Given the description of an element on the screen output the (x, y) to click on. 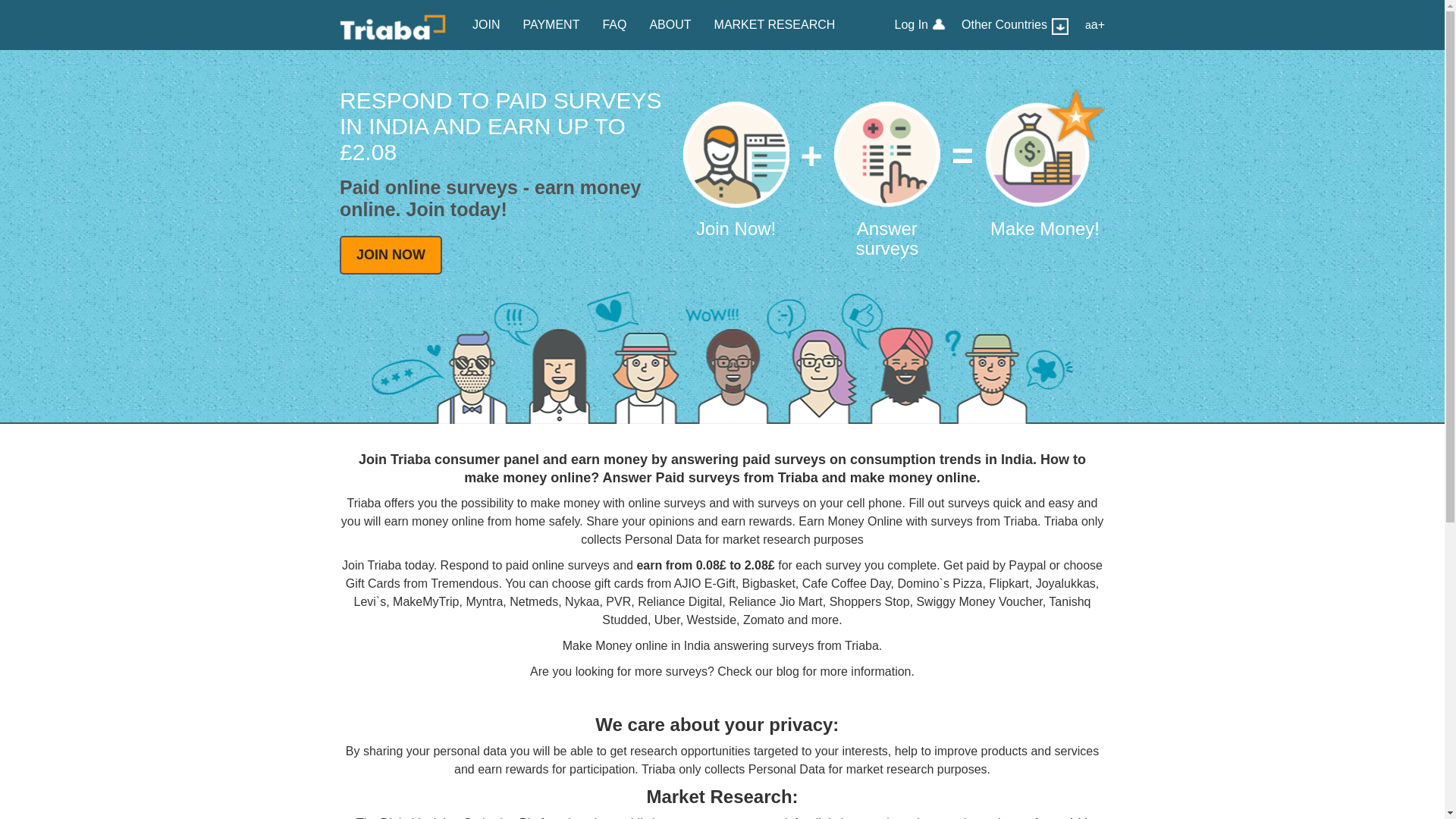
FAQ (614, 24)
MARKET RESEARCH (775, 24)
ABOUT (669, 24)
JOIN (486, 24)
PAYMENT (551, 24)
